Given the description of an element on the screen output the (x, y) to click on. 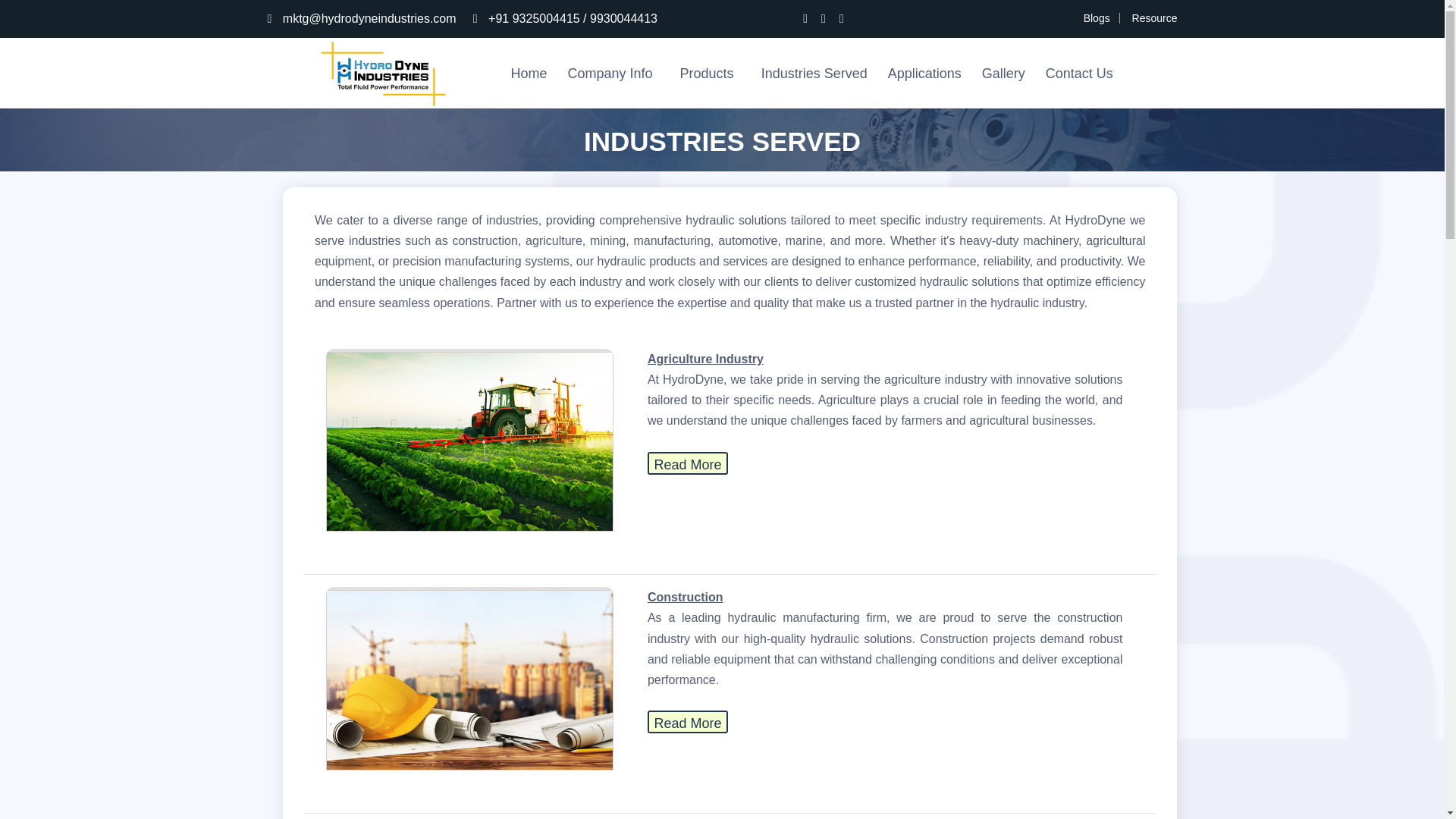
Industries Served (814, 73)
Gallery (1002, 73)
Resource (1154, 18)
Contact Us (1079, 73)
Applications (924, 73)
Blogs (1096, 18)
Products (710, 73)
Company Info (613, 73)
Home (528, 73)
